Given the description of an element on the screen output the (x, y) to click on. 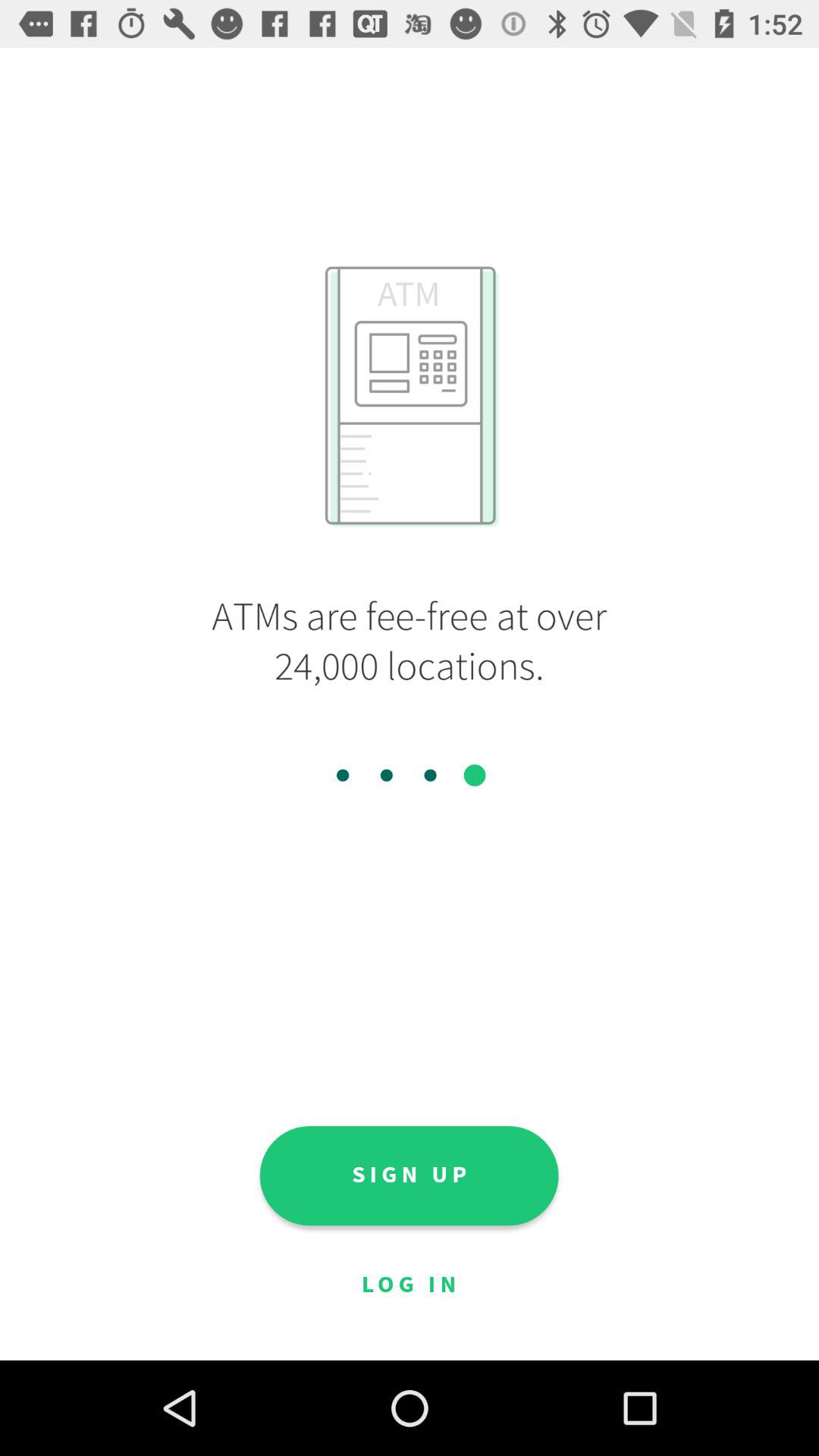
tap item below the sign up icon (408, 1285)
